Given the description of an element on the screen output the (x, y) to click on. 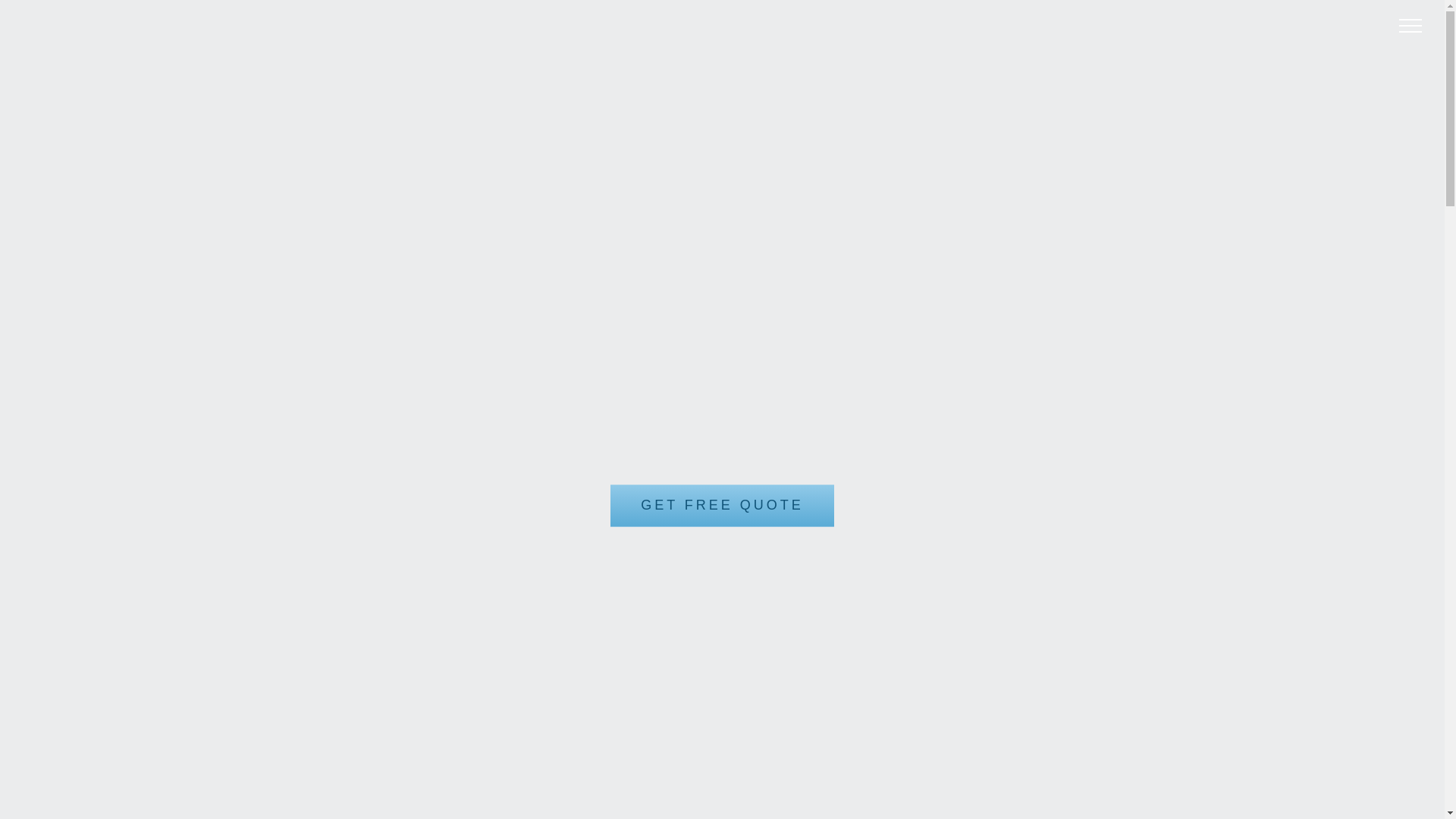
GET FREE QUOTE Element type: text (722, 506)
